Given the description of an element on the screen output the (x, y) to click on. 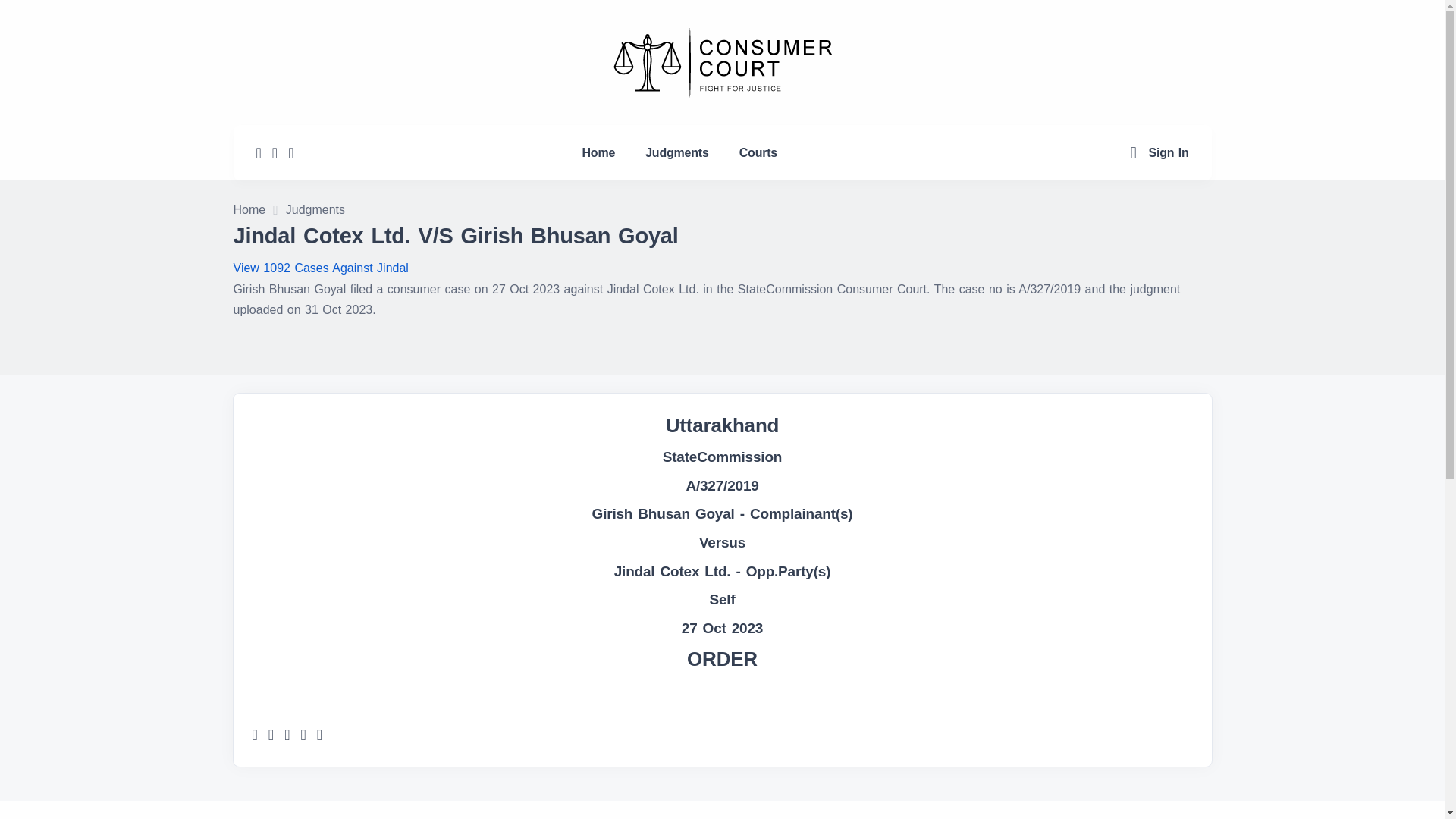
Courts (757, 152)
Judgments (676, 152)
Home (598, 152)
View 1092 Cases Against Jindal (320, 267)
Home (249, 210)
Sign In (1168, 152)
Judgments (315, 210)
